Given the description of an element on the screen output the (x, y) to click on. 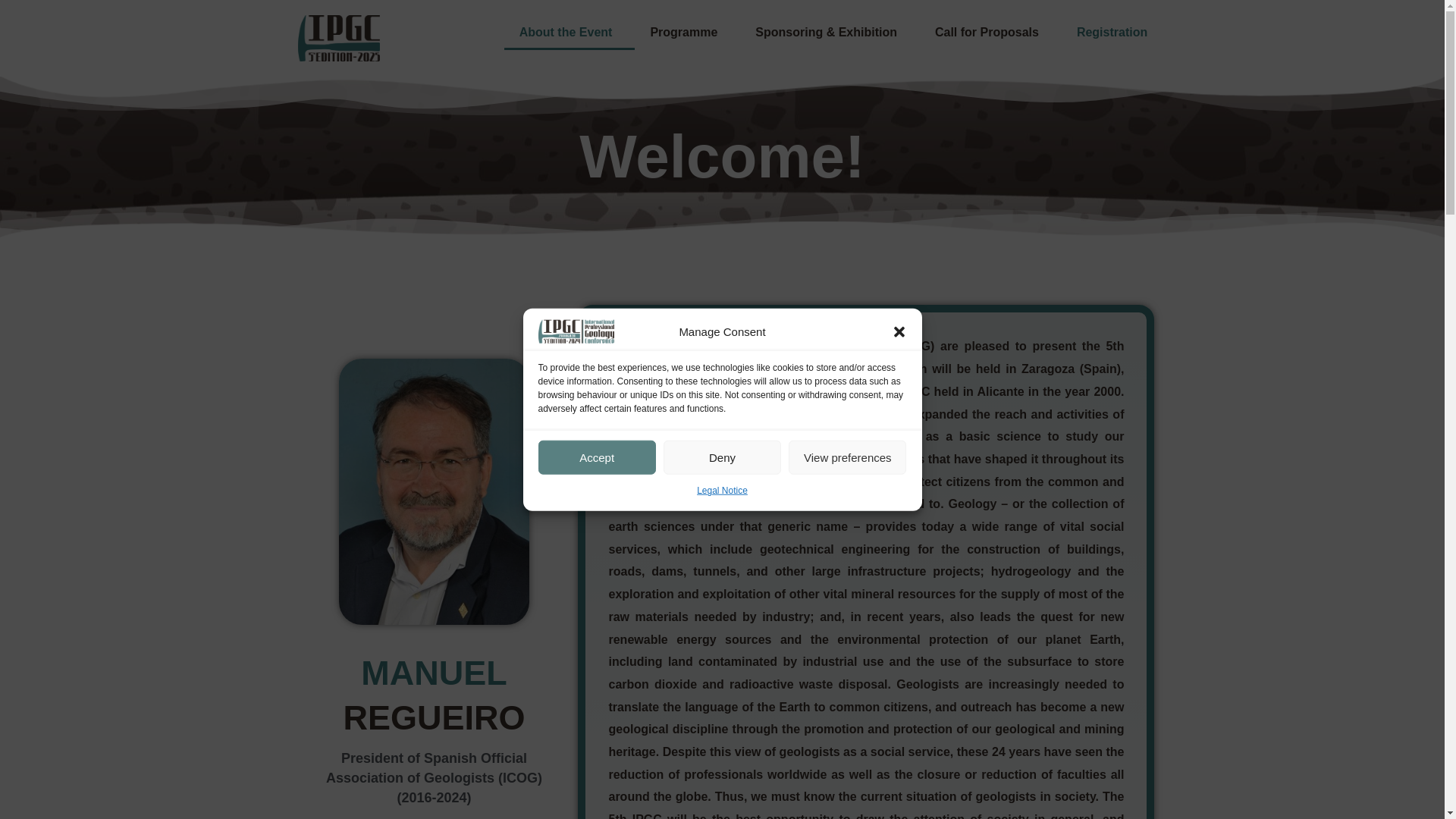
Legal Notice (722, 490)
Accept (597, 457)
About the Event (568, 32)
Programme (686, 32)
Call for Proposals (987, 32)
View preferences (847, 457)
Deny (721, 457)
